Given the description of an element on the screen output the (x, y) to click on. 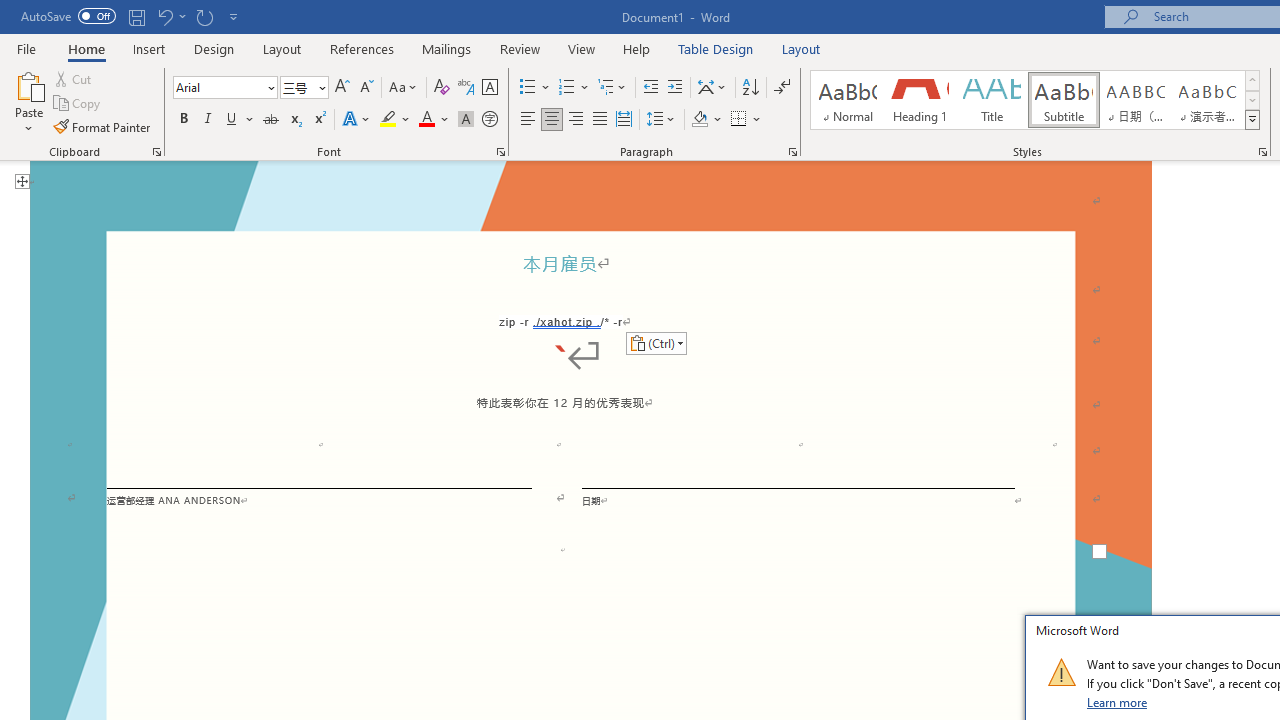
Undo Paste (170, 15)
